Given the description of an element on the screen output the (x, y) to click on. 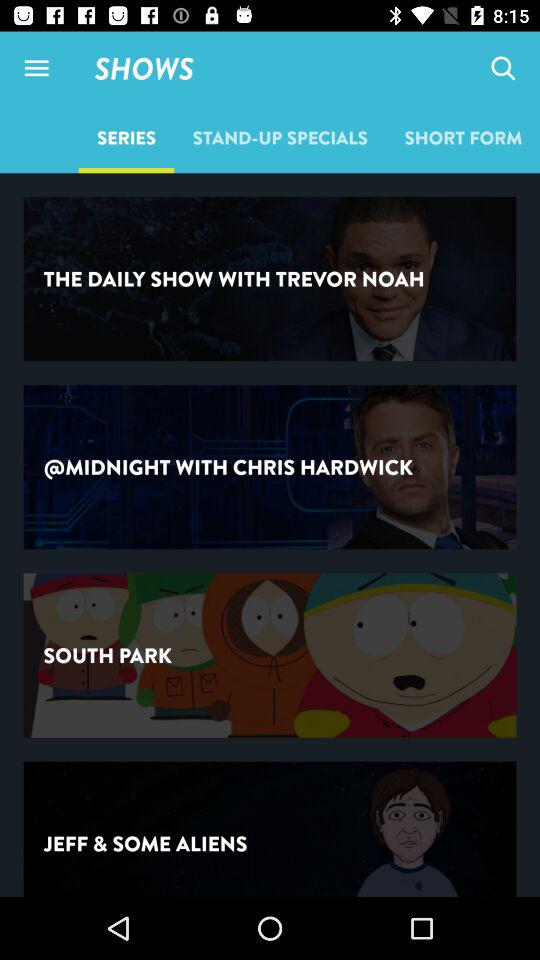
choose the item next to stand-up specials item (463, 137)
